Given the description of an element on the screen output the (x, y) to click on. 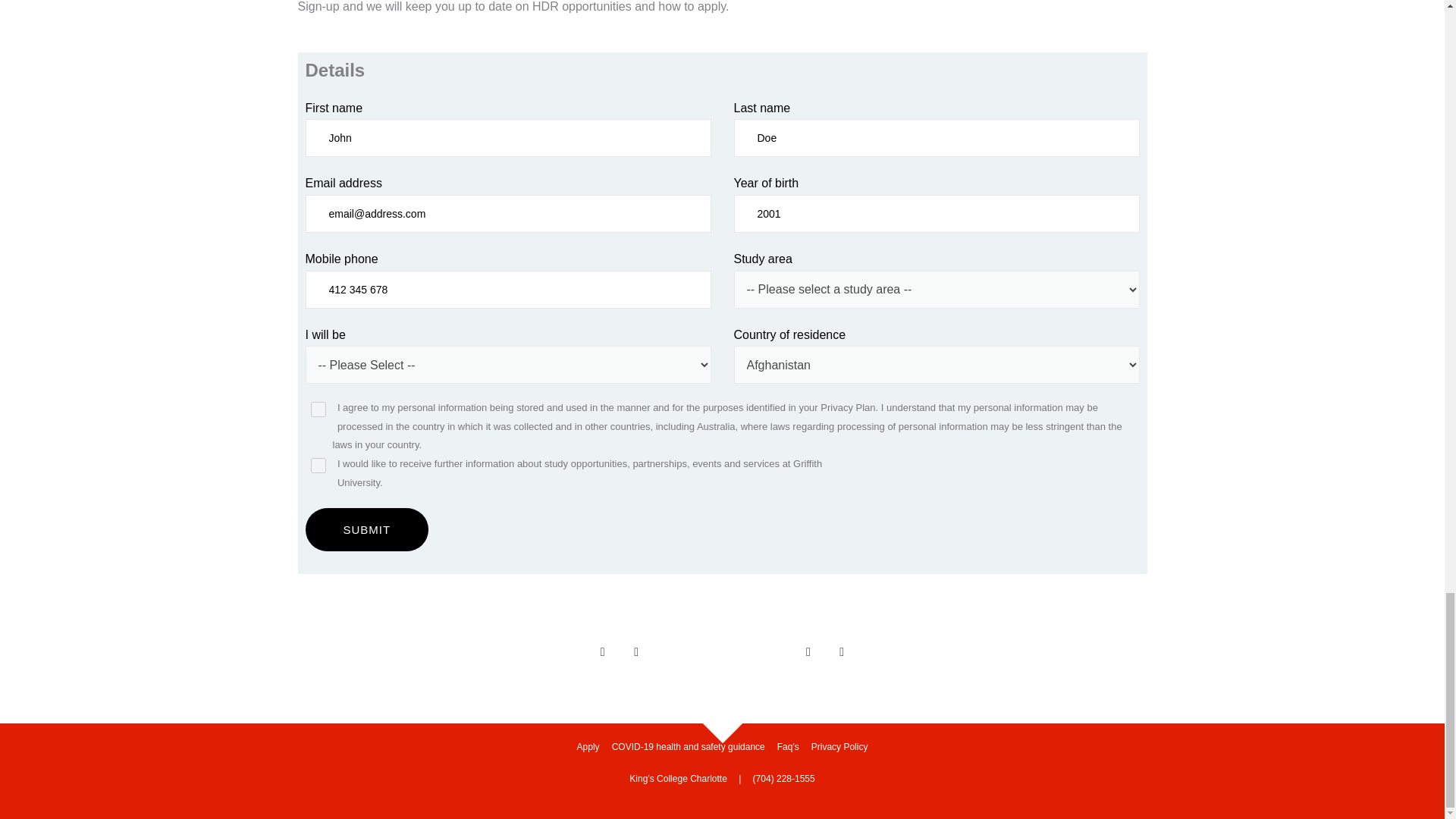
Submit (366, 529)
